Given the description of an element on the screen output the (x, y) to click on. 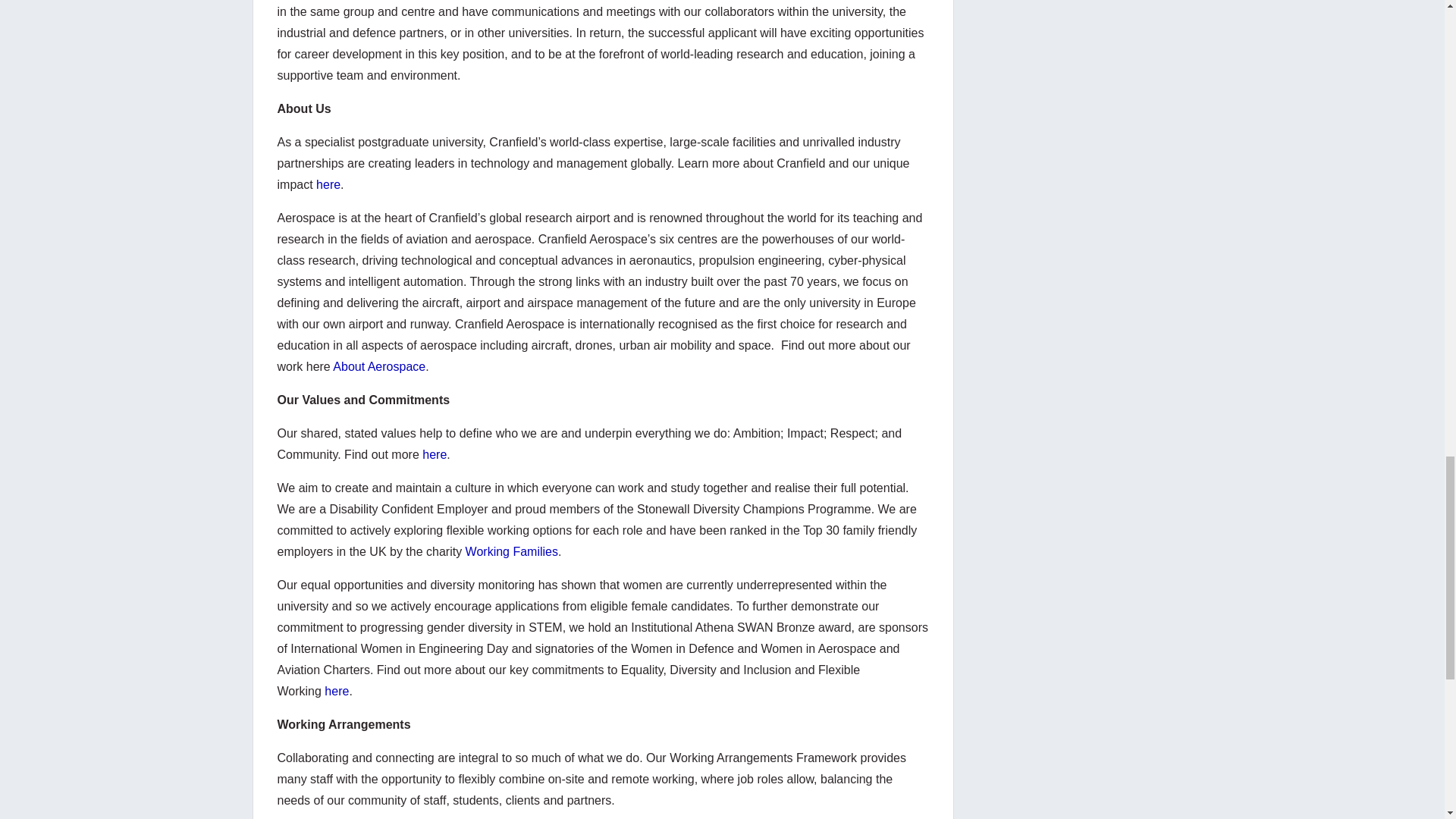
3rd party ad content (1080, 84)
3rd party ad content (1080, 16)
